Given the description of an element on the screen output the (x, y) to click on. 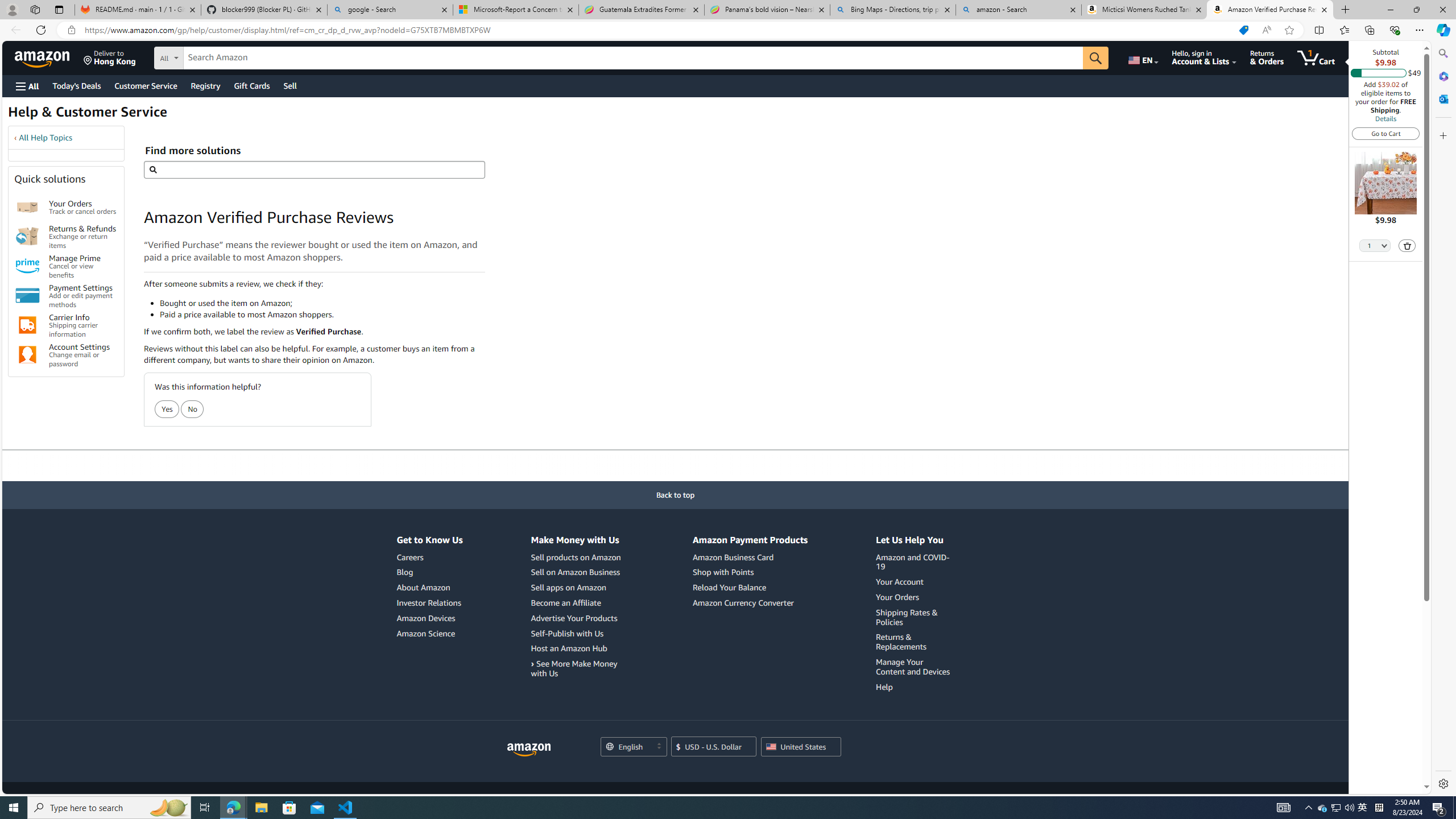
Amazon Business Card (749, 557)
Returns & Refunds (27, 236)
Customer Service (145, 85)
Hello, sign in Account & Lists (1203, 57)
Skip to main content (48, 56)
Carrier Info Shipping carrier information (82, 325)
Returns & Replacements (914, 641)
Paid a price available to most Amazon shoppers. (322, 313)
Open Menu (26, 86)
Self-Publish with Us (576, 633)
